Given the description of an element on the screen output the (x, y) to click on. 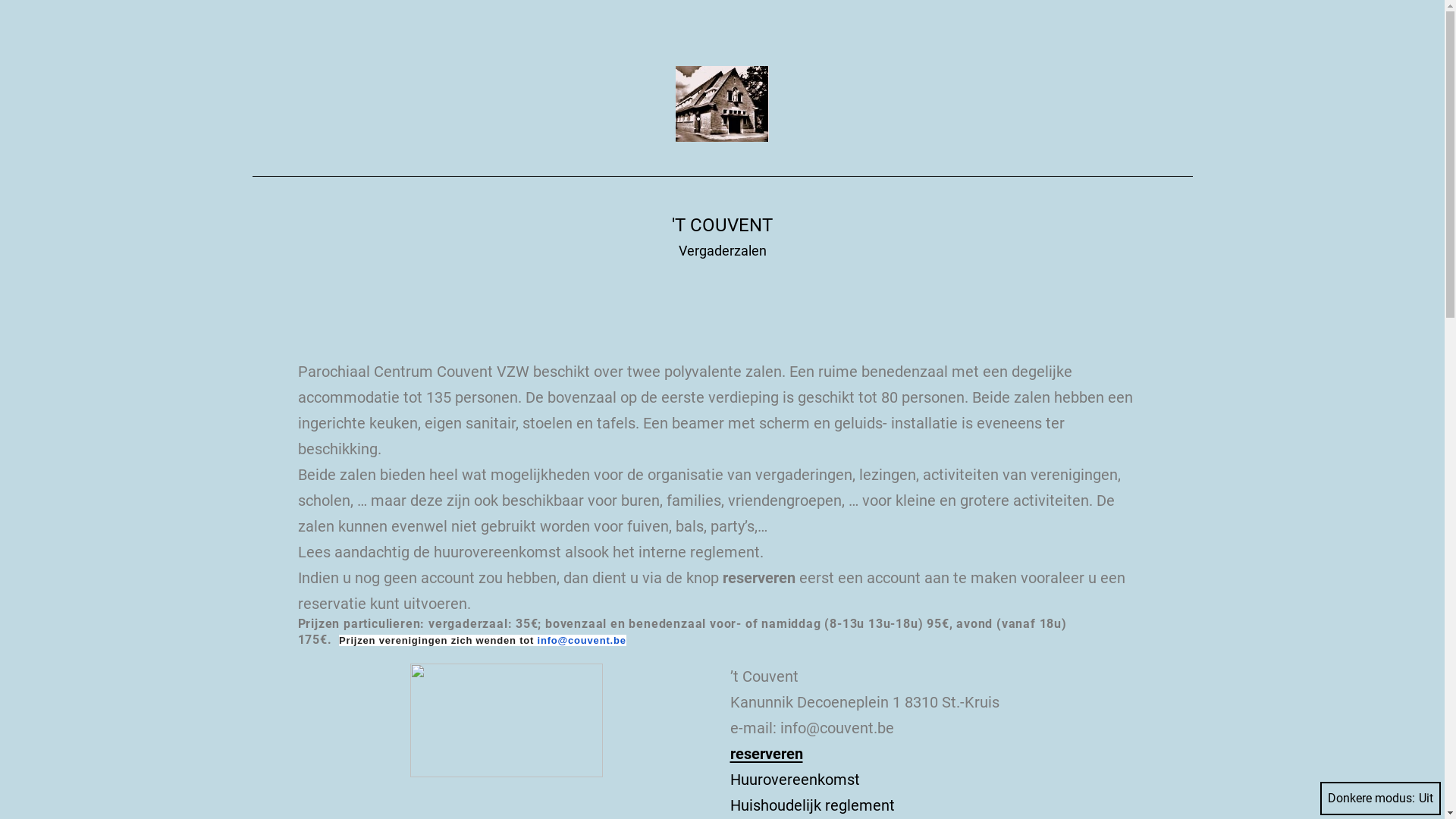
info@couvent.be Element type: text (581, 640)
Huishoudelijk reglement Element type: text (811, 805)
reserveren Element type: text (765, 753)
Donkere modus: Element type: text (1380, 798)
Huurovereenkomst Element type: text (794, 779)
